Given the description of an element on the screen output the (x, y) to click on. 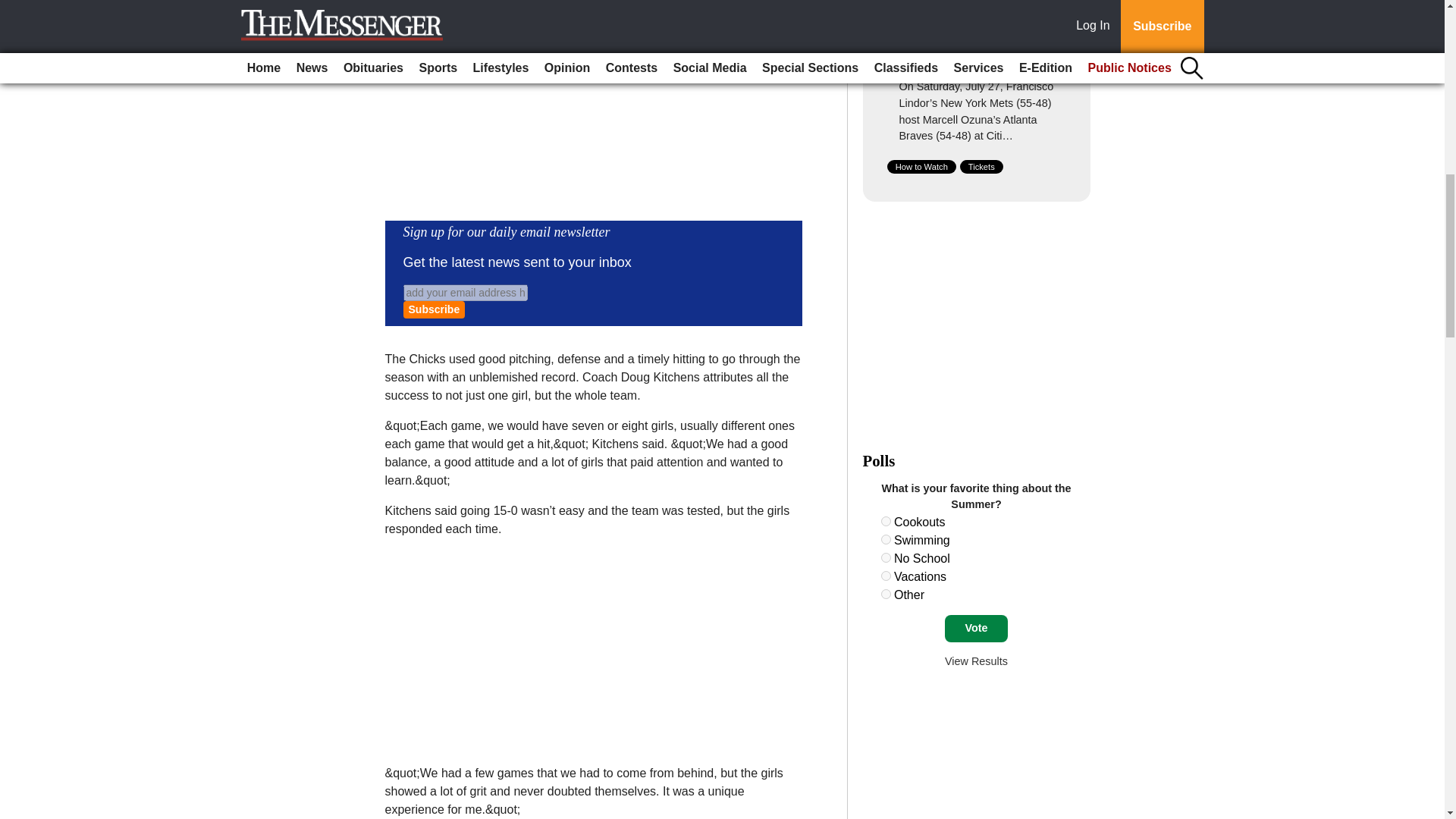
   Vote    (975, 628)
7275 (885, 539)
Subscribe (434, 309)
7276 (885, 557)
View Results Of This Poll (975, 661)
7278 (885, 593)
7277 (885, 575)
7274 (885, 521)
